Given the description of an element on the screen output the (x, y) to click on. 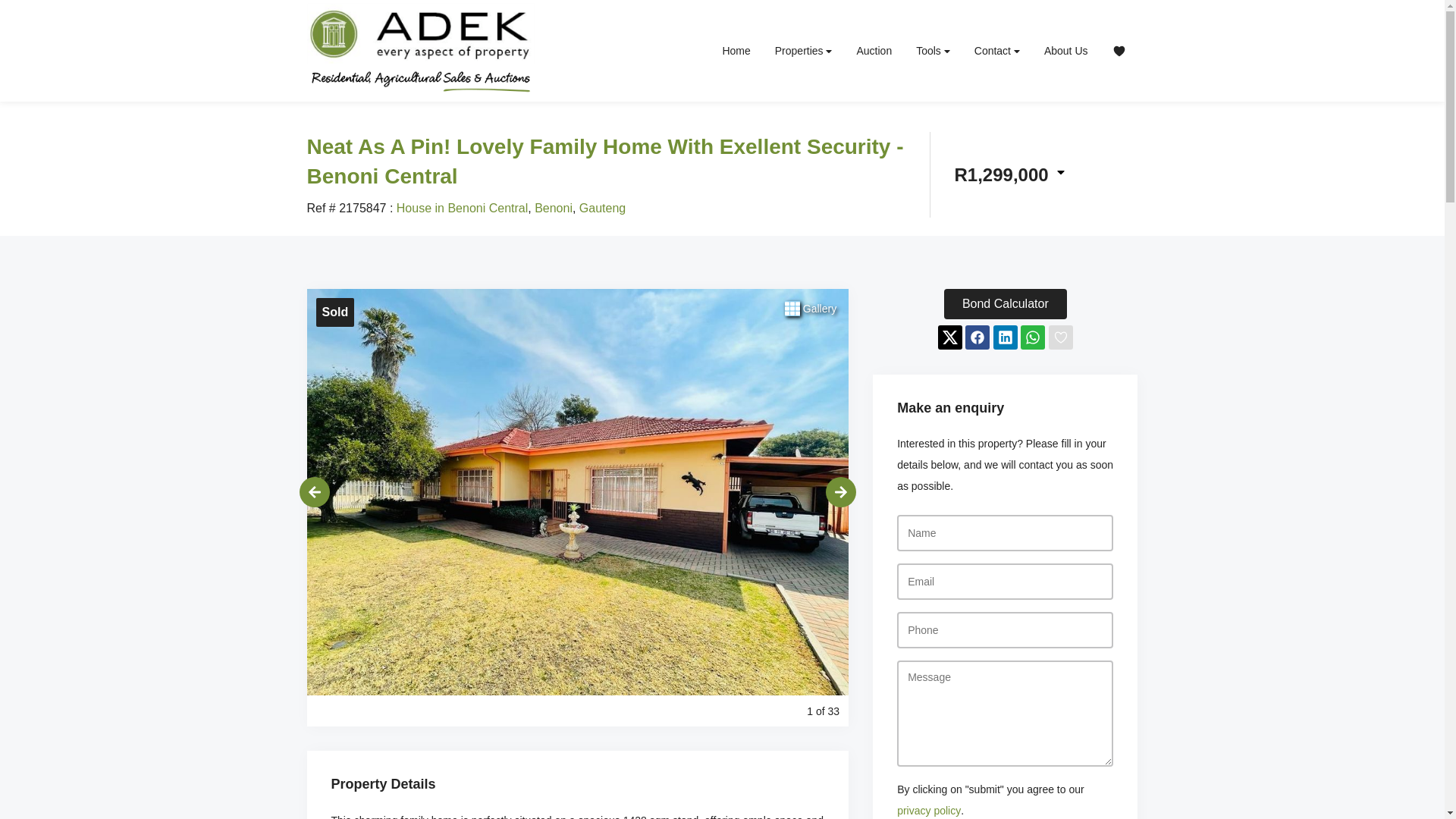
Share to X (949, 337)
Currency converter (1009, 175)
Auction (874, 50)
Property in Gauteng and Limpopo (419, 47)
Bond Calculator (1005, 304)
Add this property to your favourites (1060, 337)
Home (735, 50)
Share to WhatsApp (1032, 337)
Share to LinkedIn (1004, 337)
Benoni (553, 208)
